Given the description of an element on the screen output the (x, y) to click on. 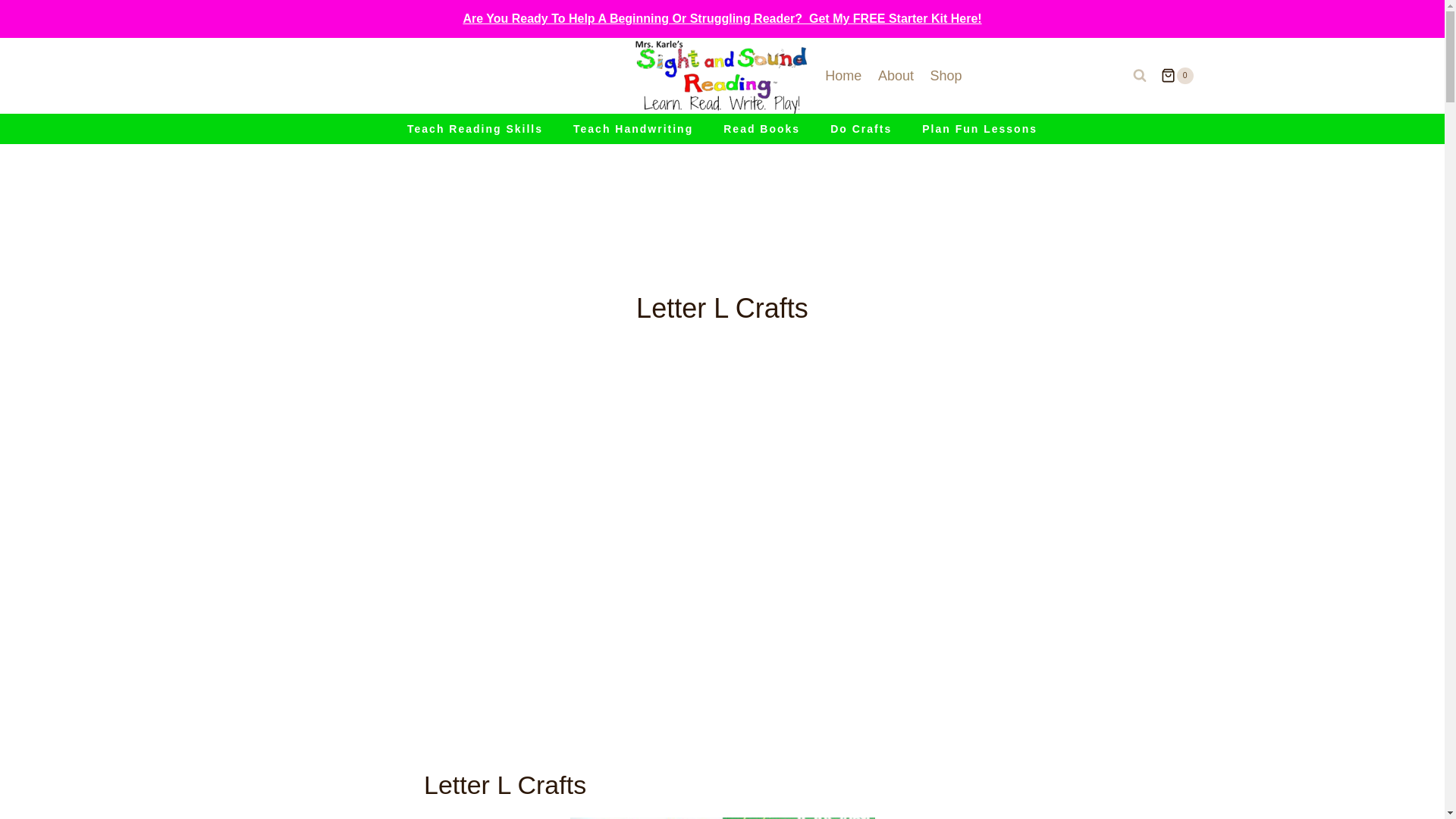
Home (843, 75)
Teach Handwriting (632, 128)
Read Books (761, 128)
Shop (946, 75)
Do Crafts (861, 128)
0 (1176, 75)
Teach Reading Skills (474, 128)
About (895, 75)
Plan Fun Lessons (979, 128)
